Given the description of an element on the screen output the (x, y) to click on. 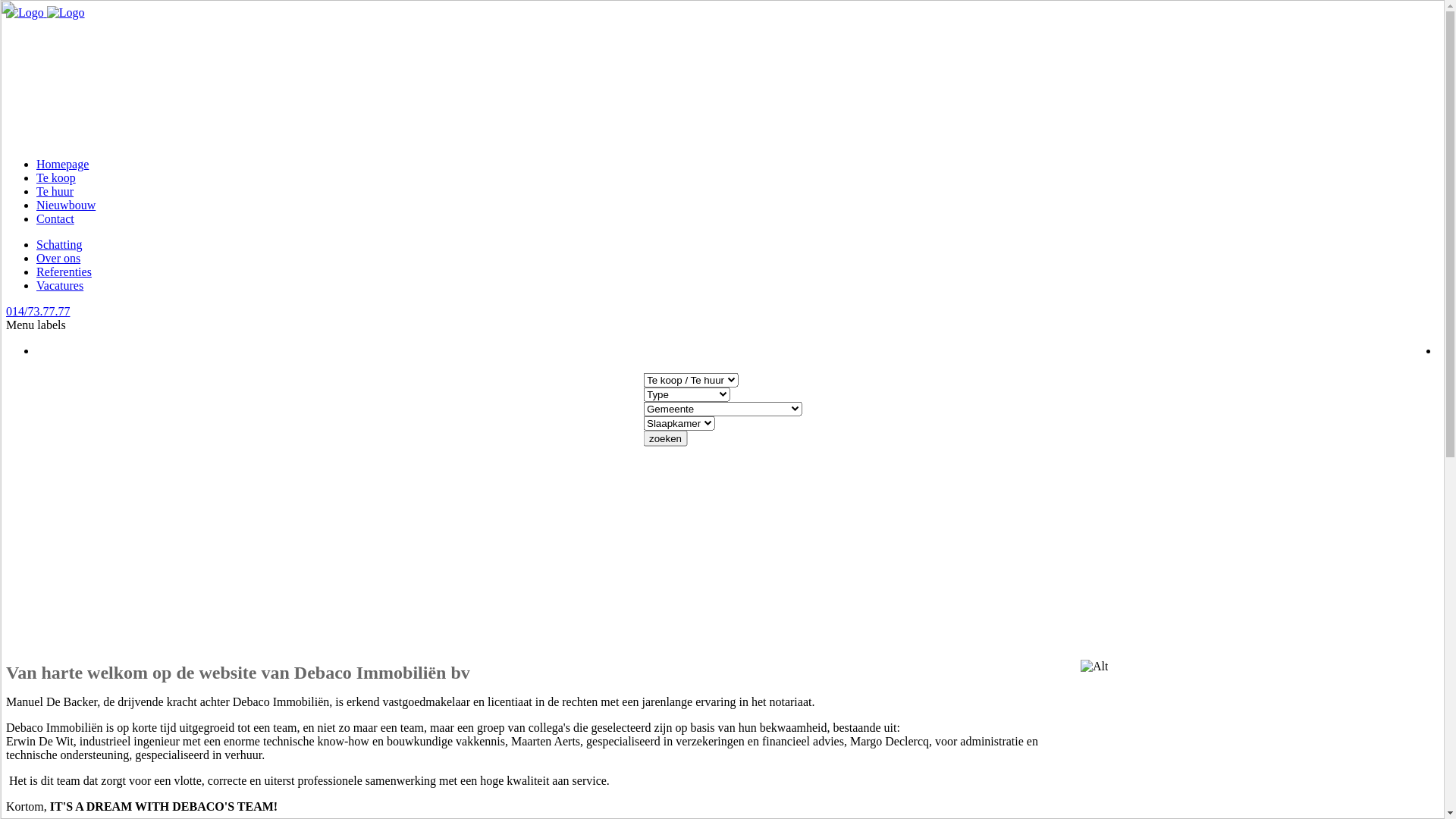
Vacatures Element type: text (59, 285)
Nieuwbouw Element type: text (65, 204)
Referenties Element type: text (63, 271)
Te huur Element type: text (54, 191)
zoeken Element type: text (665, 438)
Over ons Element type: text (58, 257)
014/73.77.77 Element type: text (37, 310)
Te koop Element type: text (55, 177)
Homepage Element type: text (62, 163)
Schatting Element type: text (58, 244)
Contact Element type: text (55, 218)
